Given the description of an element on the screen output the (x, y) to click on. 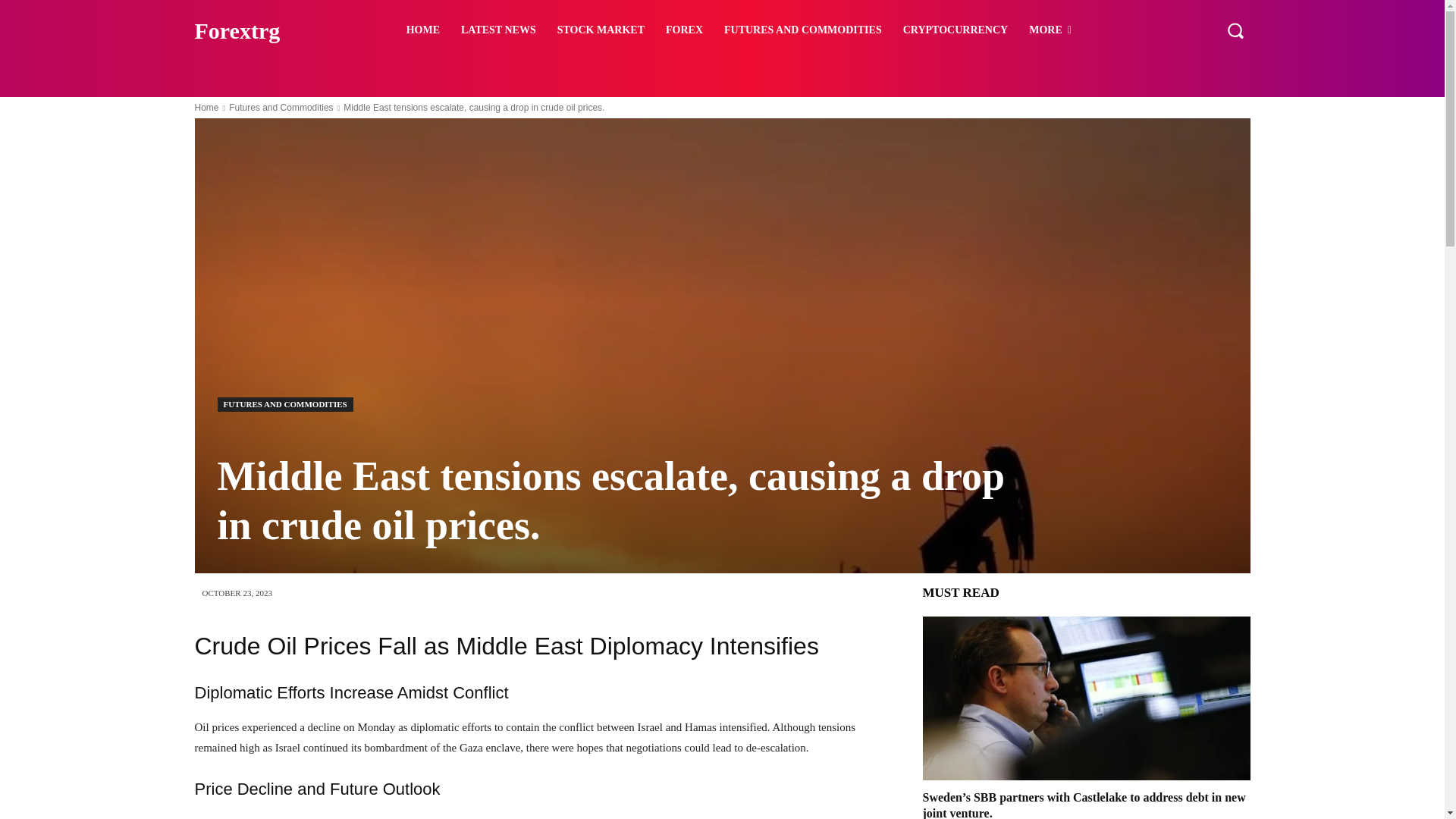
Futures and Commodities (280, 107)
FUTURES AND COMMODITIES (284, 404)
View all posts in Futures and Commodities (280, 107)
FOREX (684, 30)
HOME (422, 30)
CRYPTOCURRENCY (954, 30)
LATEST NEWS (498, 30)
STOCK MARKET (601, 30)
FUTURES AND COMMODITIES (802, 30)
Forextrg (273, 30)
Home (205, 107)
